Given the description of an element on the screen output the (x, y) to click on. 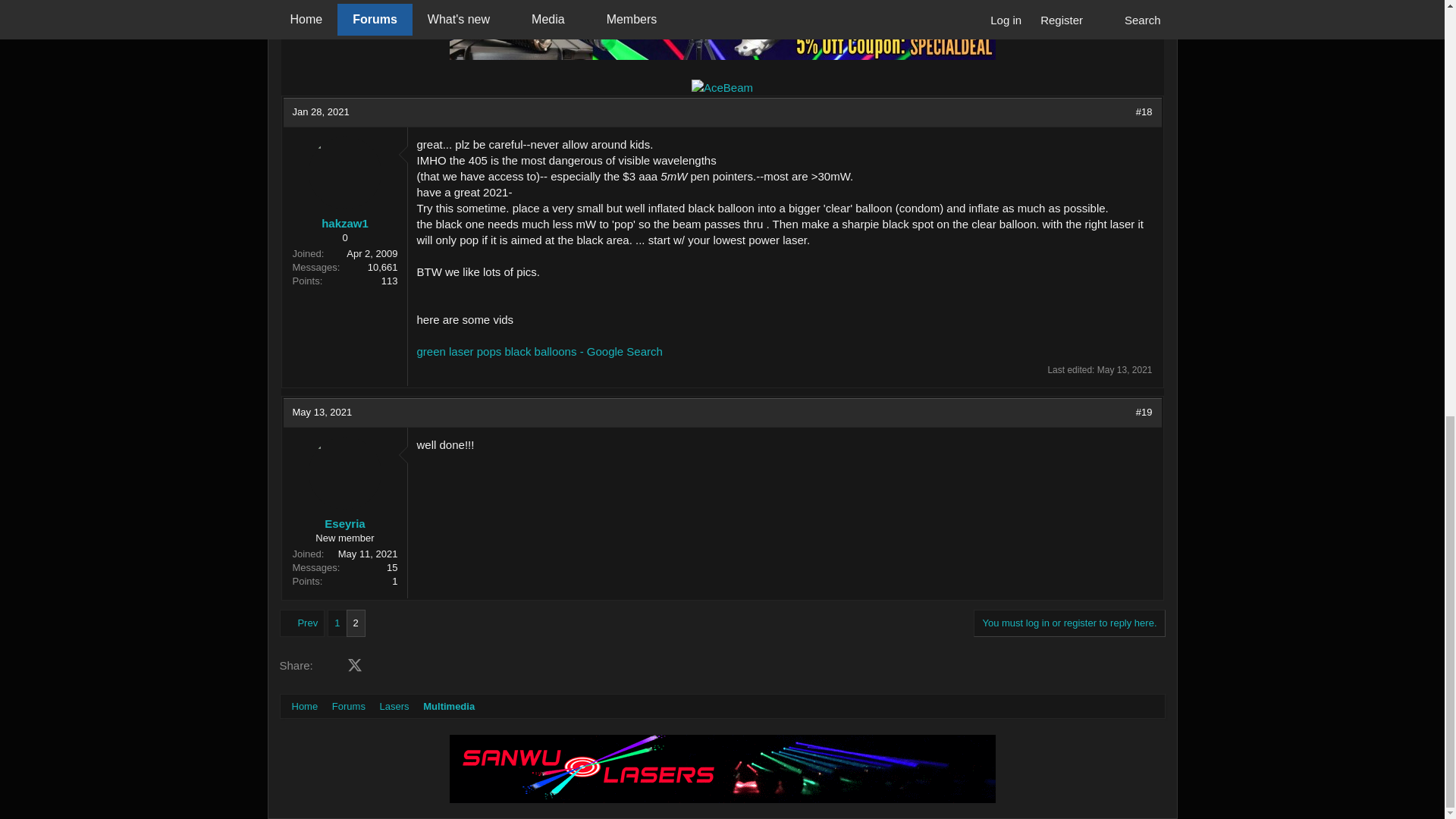
AceBeam (721, 87)
May 13, 2021 at 12:07 PM (322, 411)
May 13, 2021 at 10:19 PM (1125, 369)
Jan 28, 2021 at 9:25 PM (320, 111)
Sanwu Lasers (721, 768)
JETLASERS (721, 29)
